Given the description of an element on the screen output the (x, y) to click on. 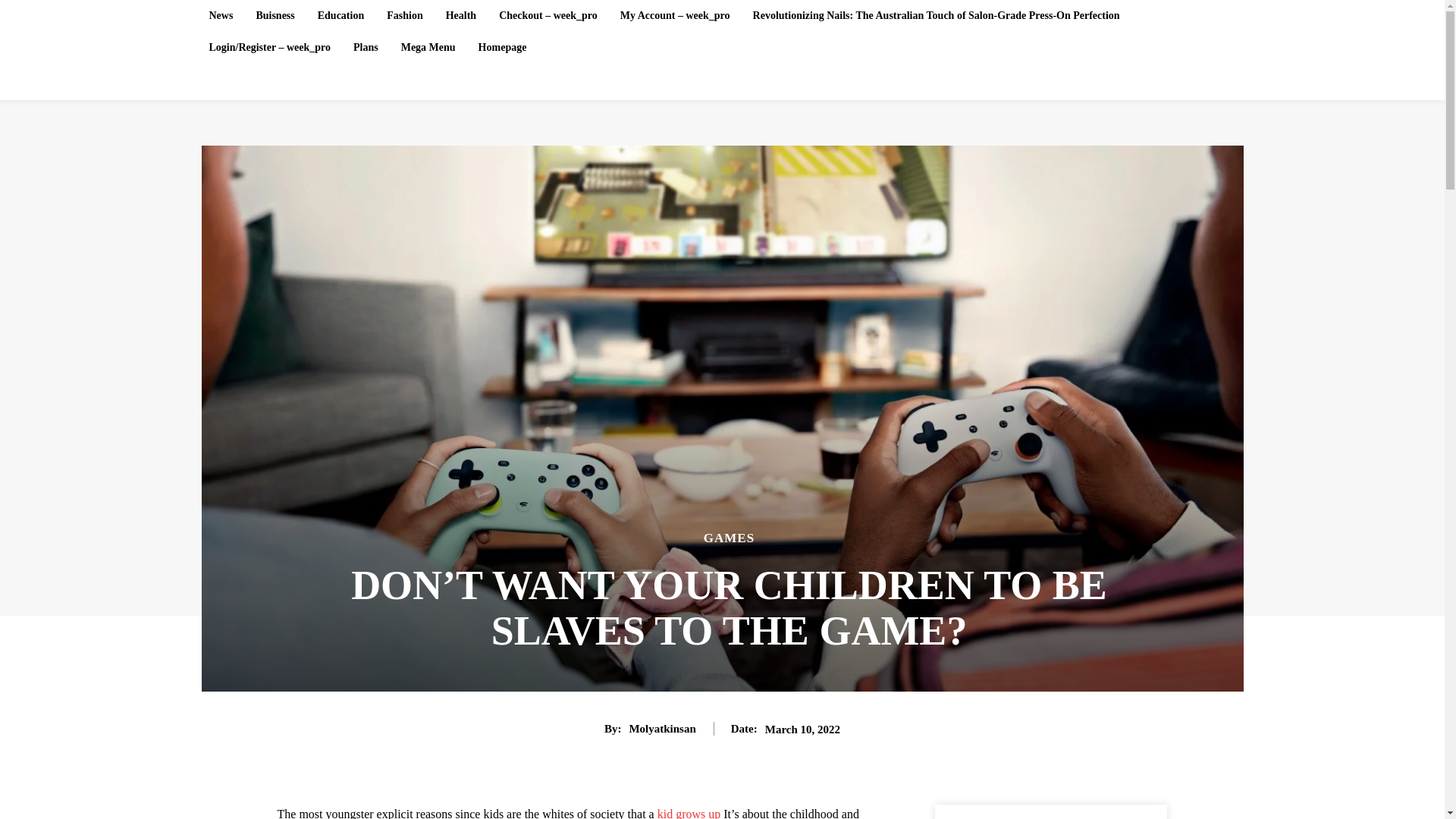
News (221, 15)
Plans (365, 47)
Homepage (502, 47)
Health (460, 15)
Mega Menu (428, 47)
Fashion (403, 15)
Buisness (274, 15)
Education (340, 15)
